Given the description of an element on the screen output the (x, y) to click on. 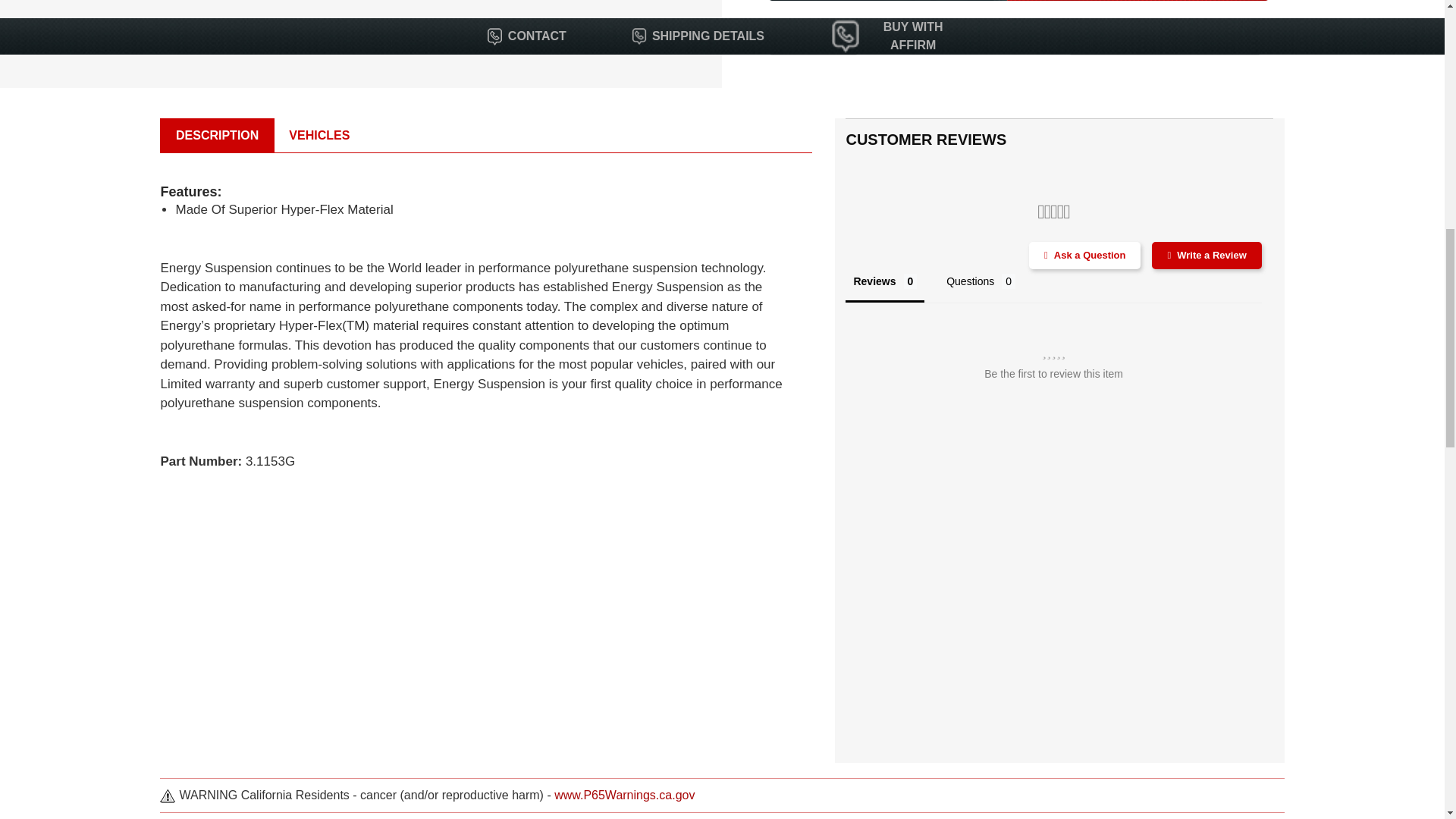
1 (812, 37)
Add to Cart (962, 37)
